Given the description of an element on the screen output the (x, y) to click on. 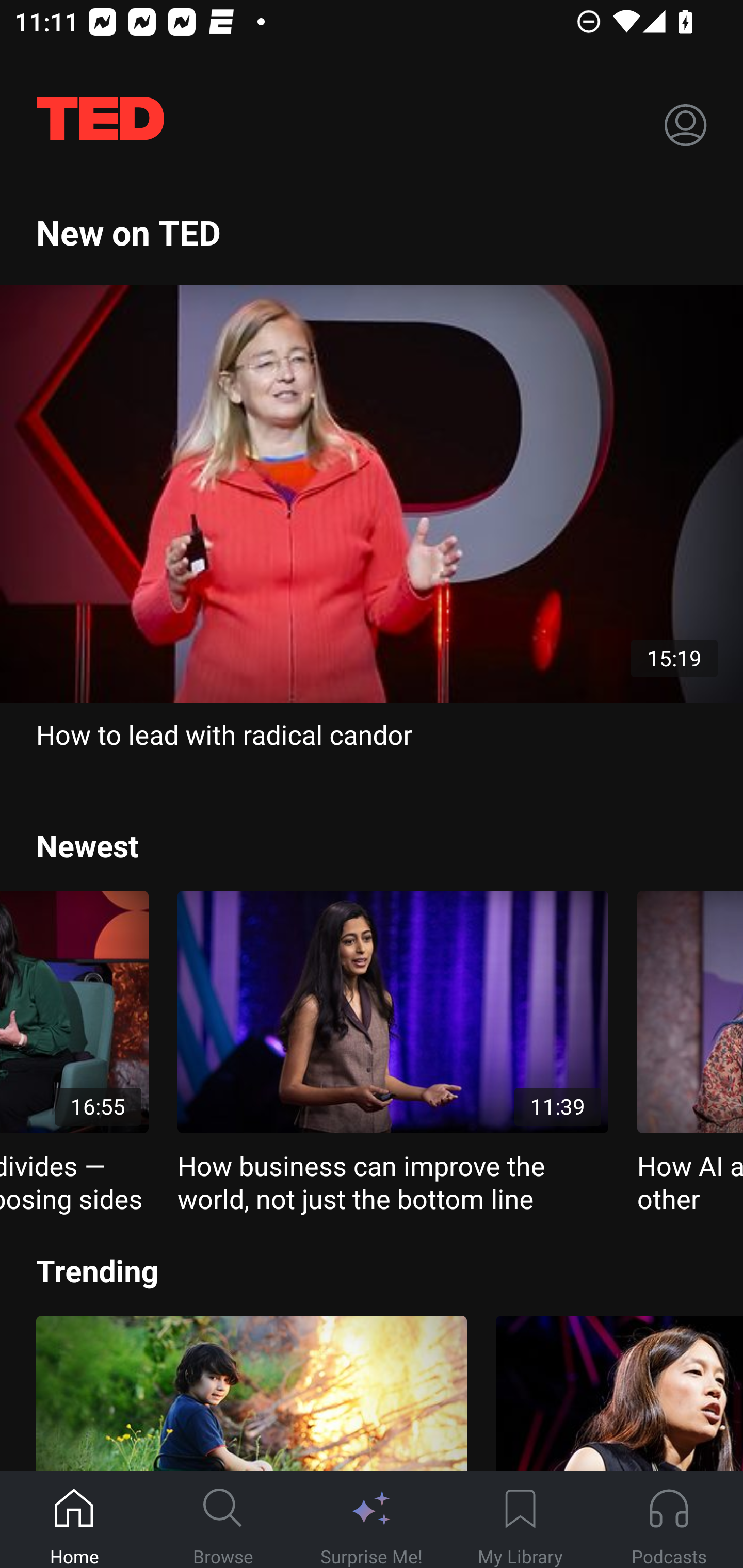
Home (74, 1520)
Browse (222, 1520)
Surprise Me! (371, 1520)
My Library (519, 1520)
Podcasts (668, 1520)
